Given the description of an element on the screen output the (x, y) to click on. 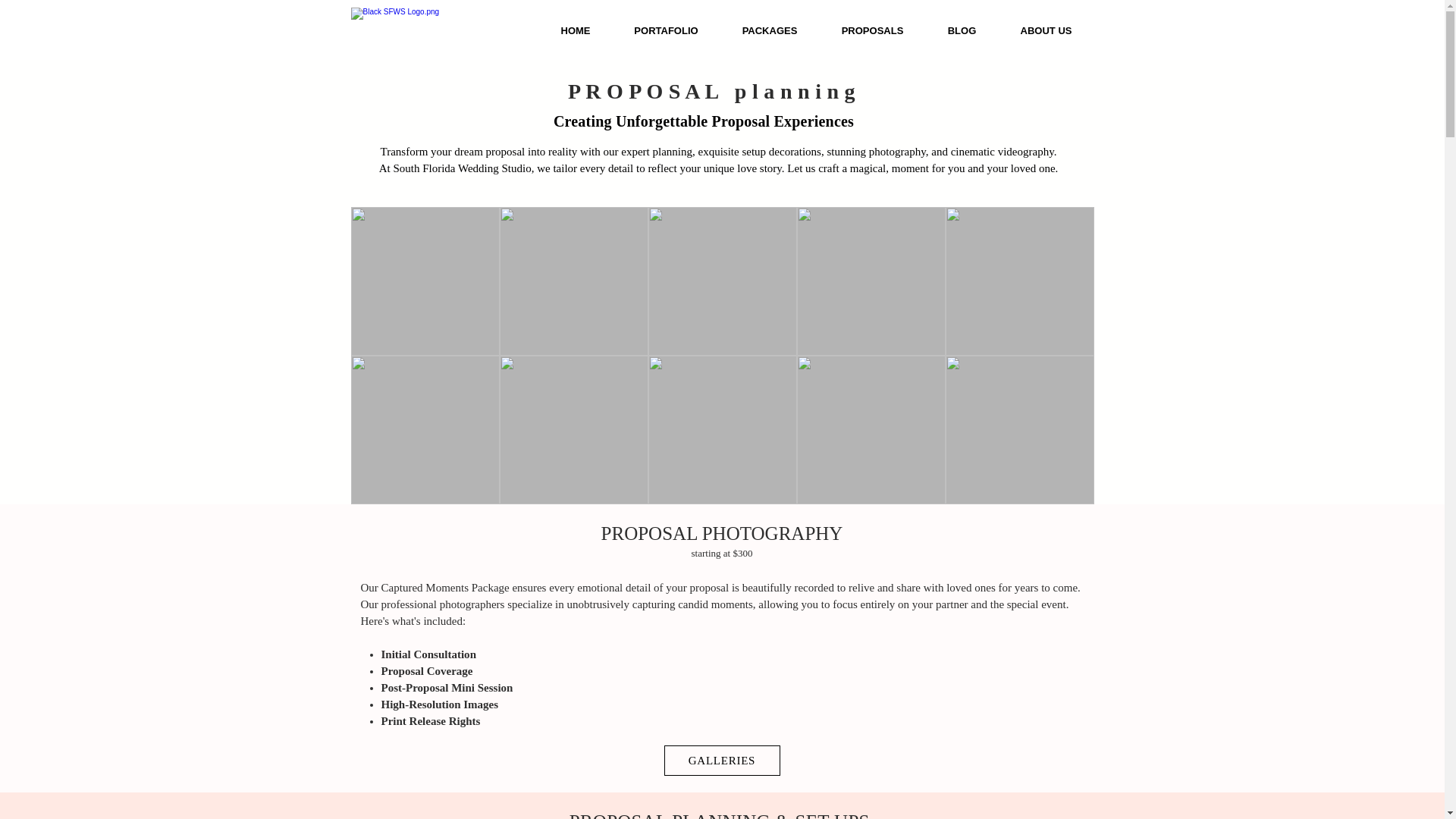
PROPOSALS (871, 30)
GALLERIES (721, 760)
BLOG (960, 30)
PACKAGES (769, 30)
PORTAFOLIO (666, 30)
ABOUT US (1045, 30)
HOME (574, 30)
